Given the description of an element on the screen output the (x, y) to click on. 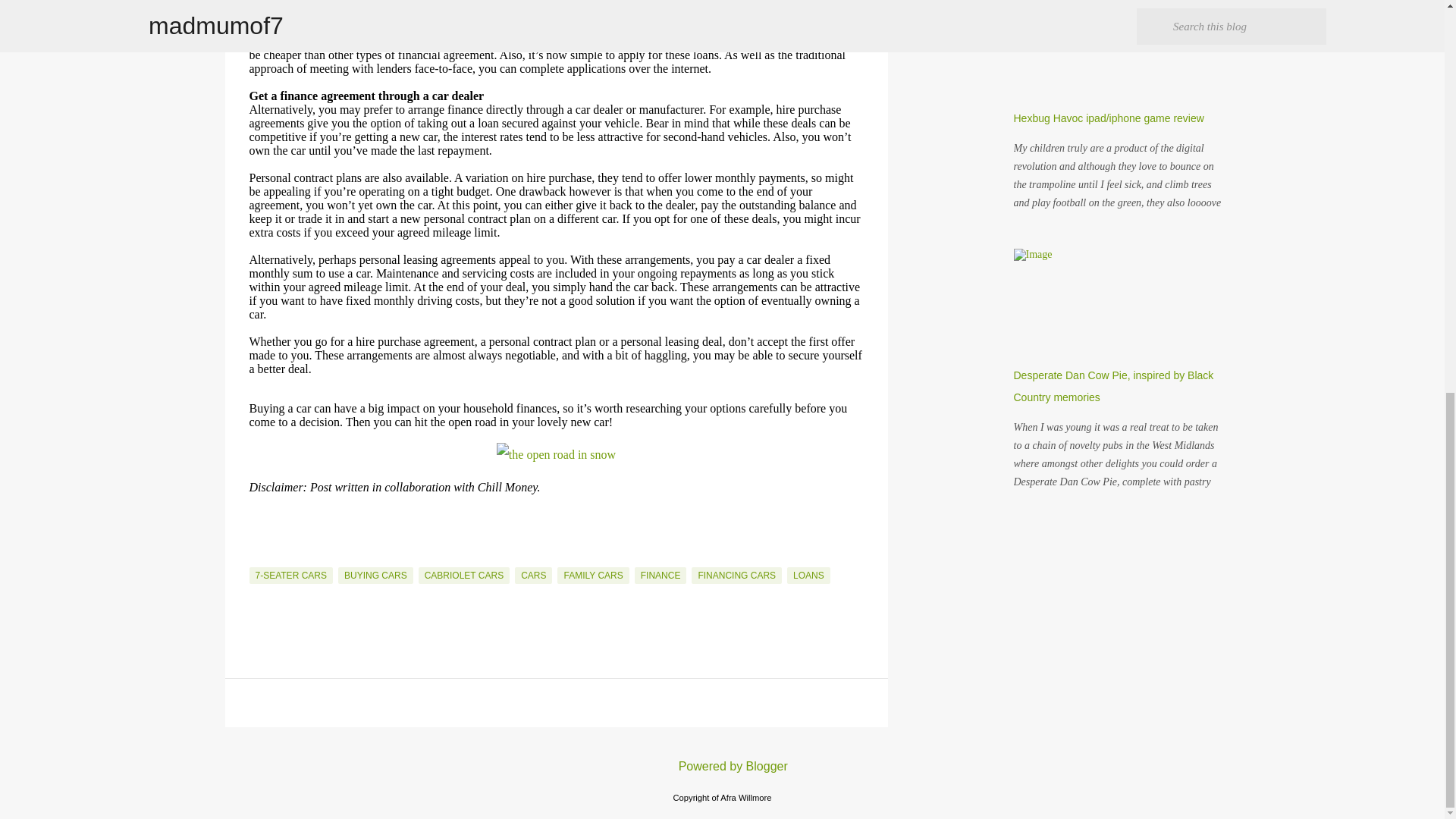
7-SEATER CARS (289, 575)
CARS (533, 575)
Email Post (257, 557)
BUYING CARS (375, 575)
LOANS (808, 575)
FINANCE (660, 575)
Desperate Dan Cow Pie, inspired by Black Country memories (1112, 386)
FINANCING CARS (736, 575)
CABRIOLET CARS (464, 575)
FAMILY CARS (592, 575)
